Given the description of an element on the screen output the (x, y) to click on. 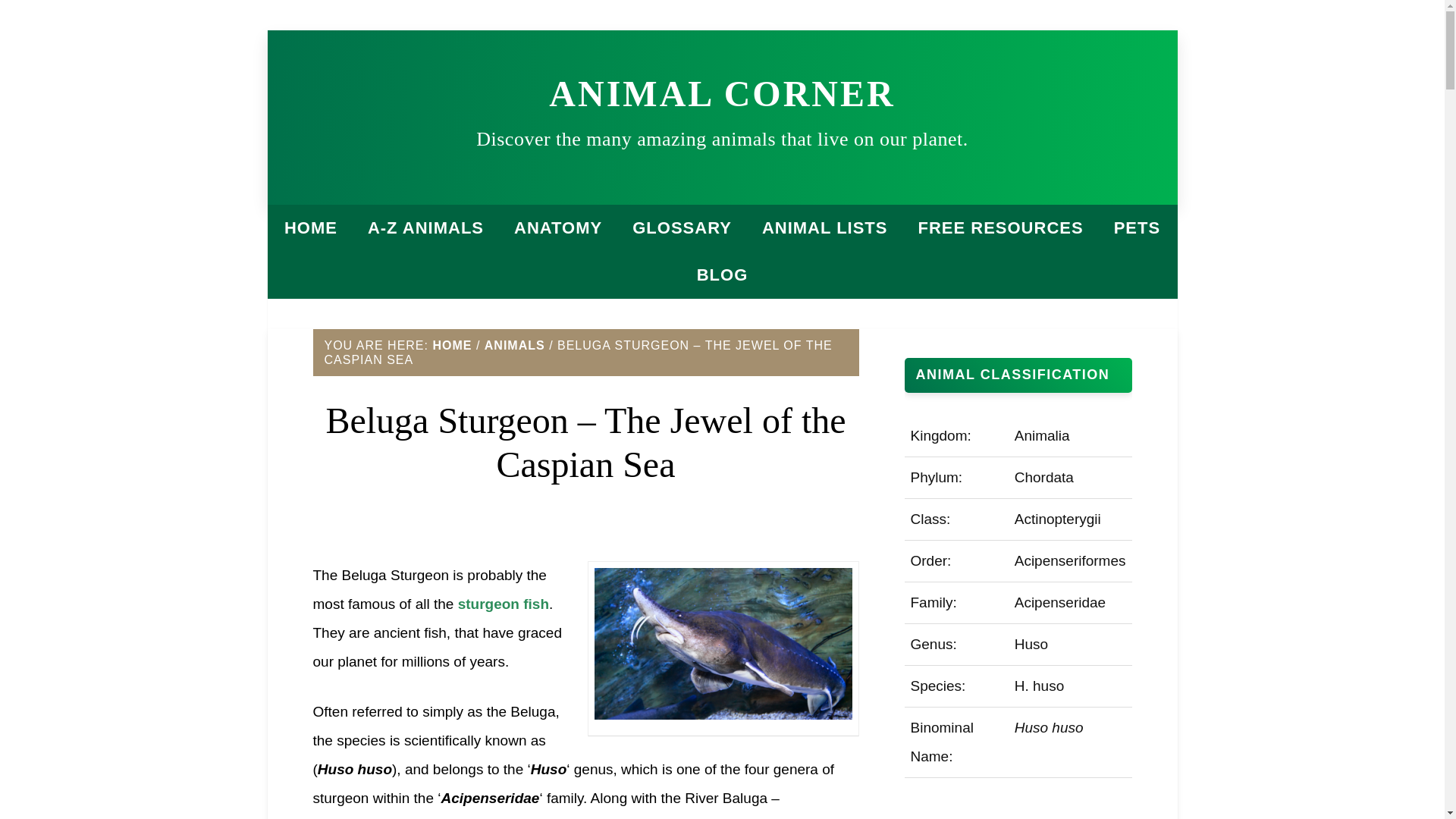
ANIMAL LISTS (824, 227)
PETS (1136, 227)
FREE RESOURCES (999, 227)
sturgeon fish (503, 603)
GLOSSARY (681, 227)
A-Z ANIMALS (425, 227)
BLOG (721, 274)
HOME (451, 345)
HOME (310, 227)
ANIMAL CORNER (721, 93)
ANATOMY (558, 227)
ANIMALS (514, 345)
